Given the description of an element on the screen output the (x, y) to click on. 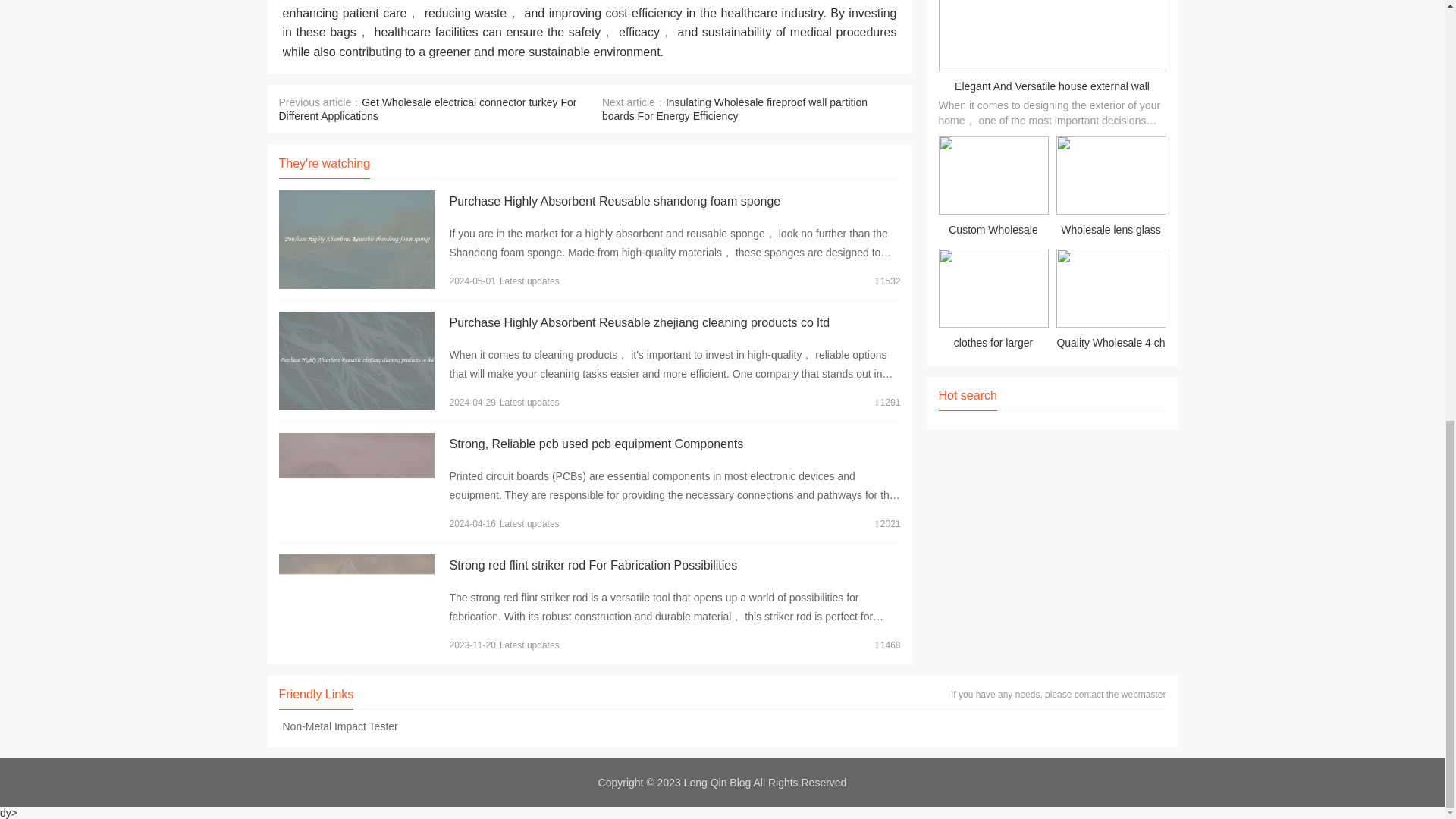
Purchase Highly Absorbent Reusable shandong foam sponge (614, 201)
Strong, Reliable pcb used pcb equipment Components (595, 443)
Strong red flint striker rod For Fabrication Possibilities (592, 564)
Quality Wholesale 4 ch amp At A Great Bargain (1110, 300)
